Given the description of an element on the screen output the (x, y) to click on. 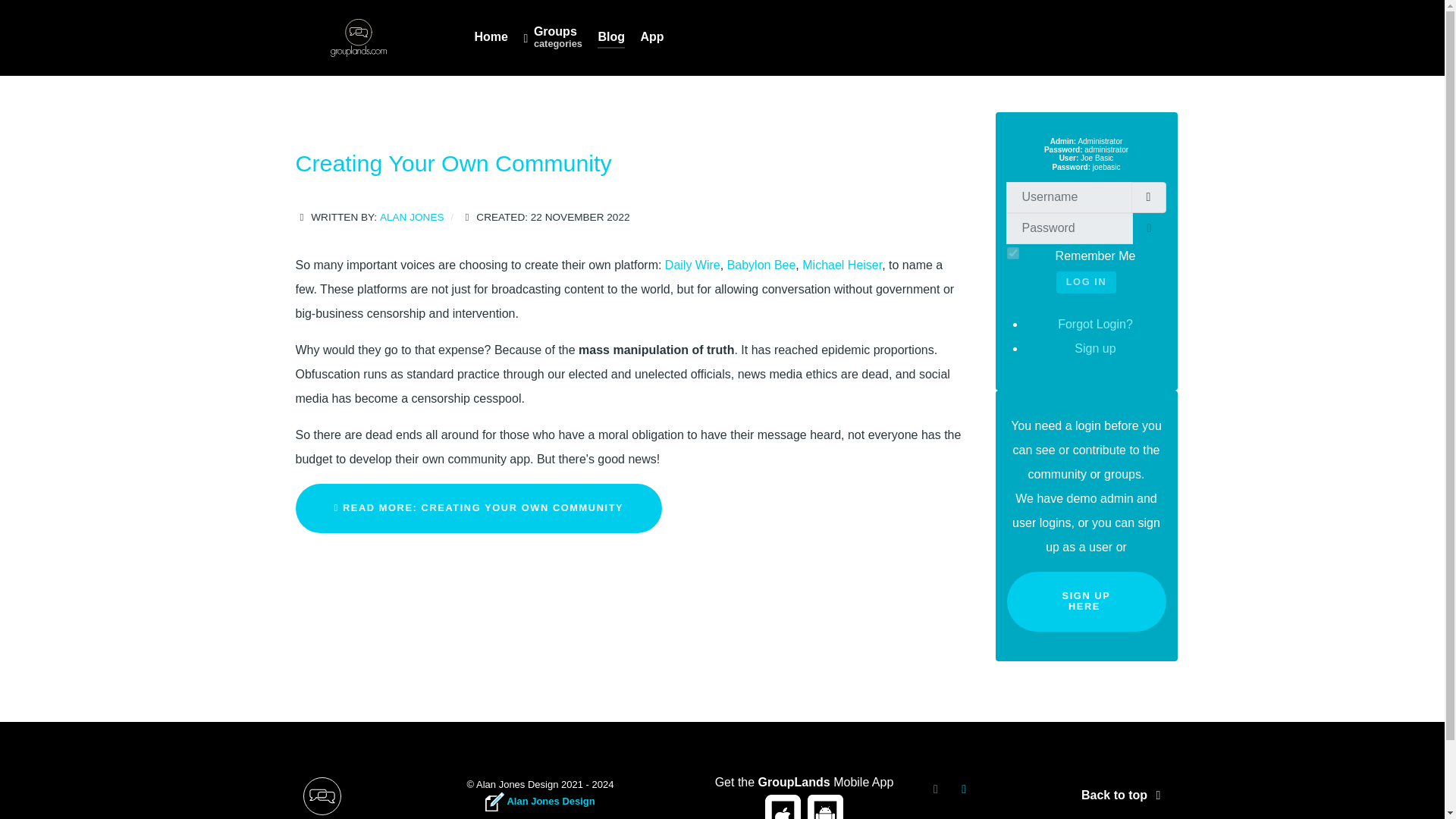
Forgot Login? (1095, 323)
Blog (610, 38)
Alan Jones Design (539, 800)
Michael Heiser (842, 264)
Daily Wire (692, 264)
LOG IN (1086, 282)
yes (1013, 253)
App (651, 38)
Sign up (1094, 348)
Back to top (1123, 794)
